Given the description of an element on the screen output the (x, y) to click on. 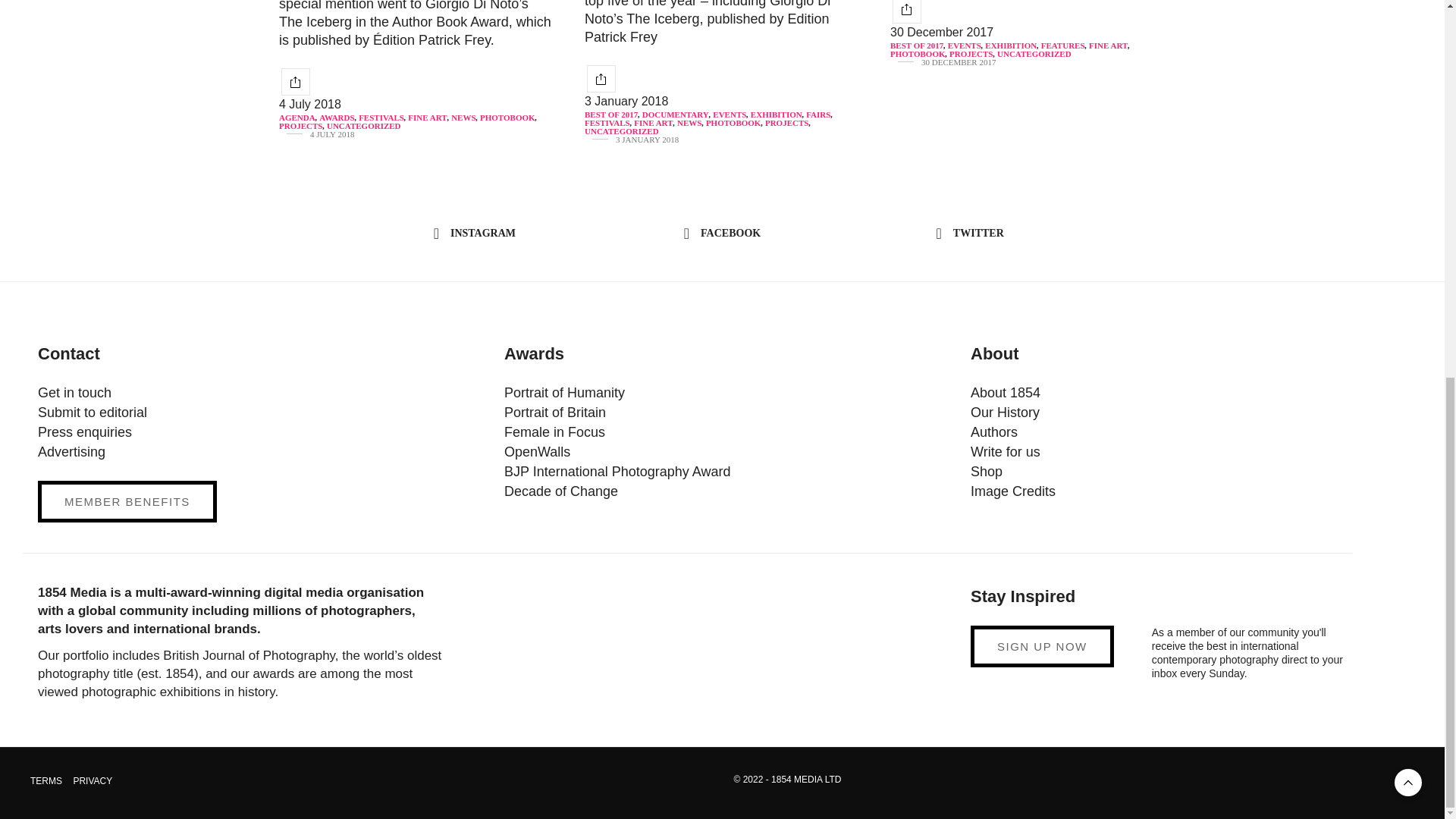
Scroll To Top (1408, 85)
AWARDS (335, 117)
NEWS (463, 117)
UNCATEGORIZED (363, 126)
PHOTOBOOK (507, 117)
FESTIVALS (381, 117)
FINE ART (426, 117)
PROJECTS (300, 126)
AGENDA (297, 117)
